Given the description of an element on the screen output the (x, y) to click on. 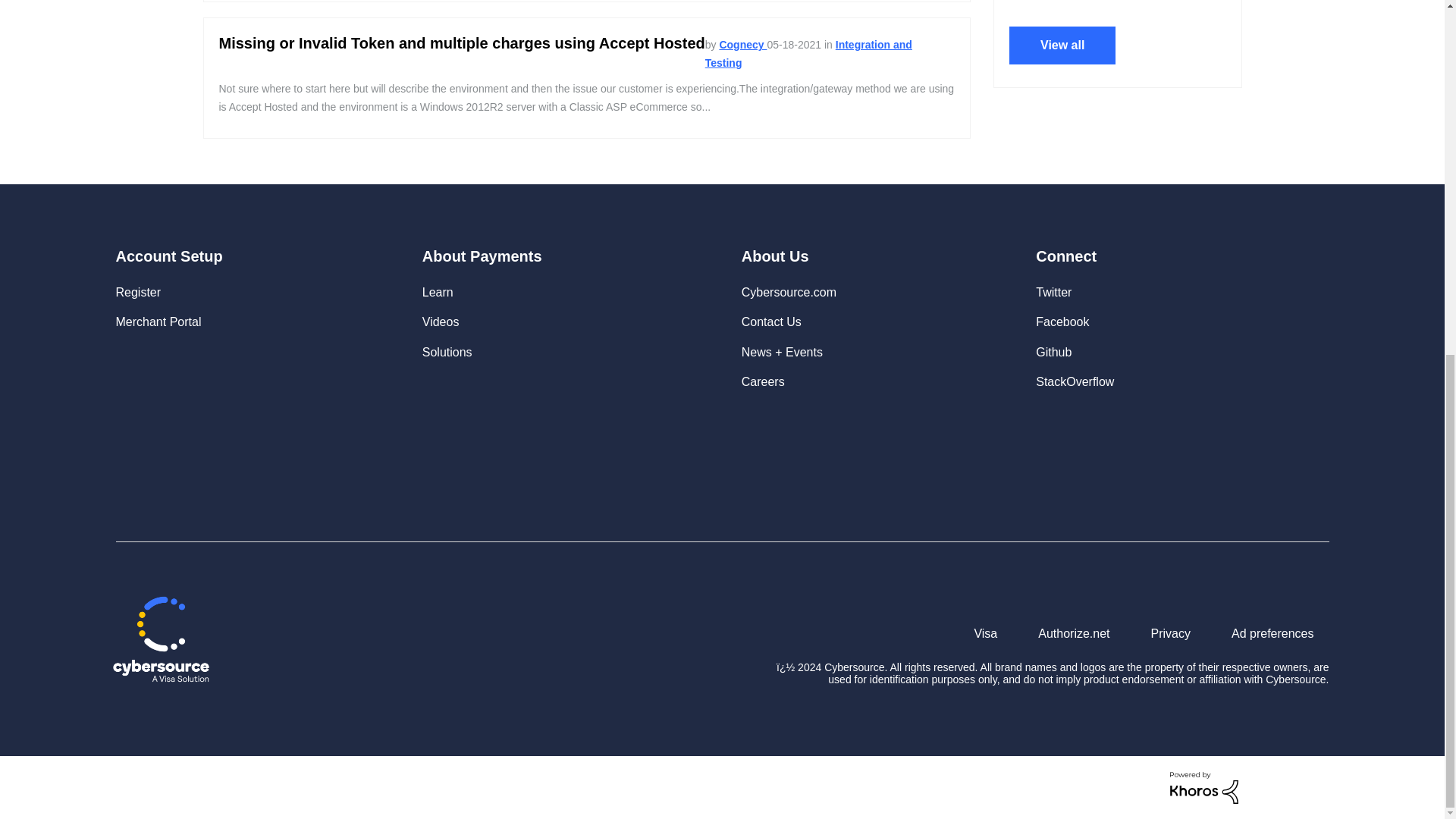
Cognecy (743, 44)
View profile (743, 44)
Integration and Testing (808, 53)
